Given the description of an element on the screen output the (x, y) to click on. 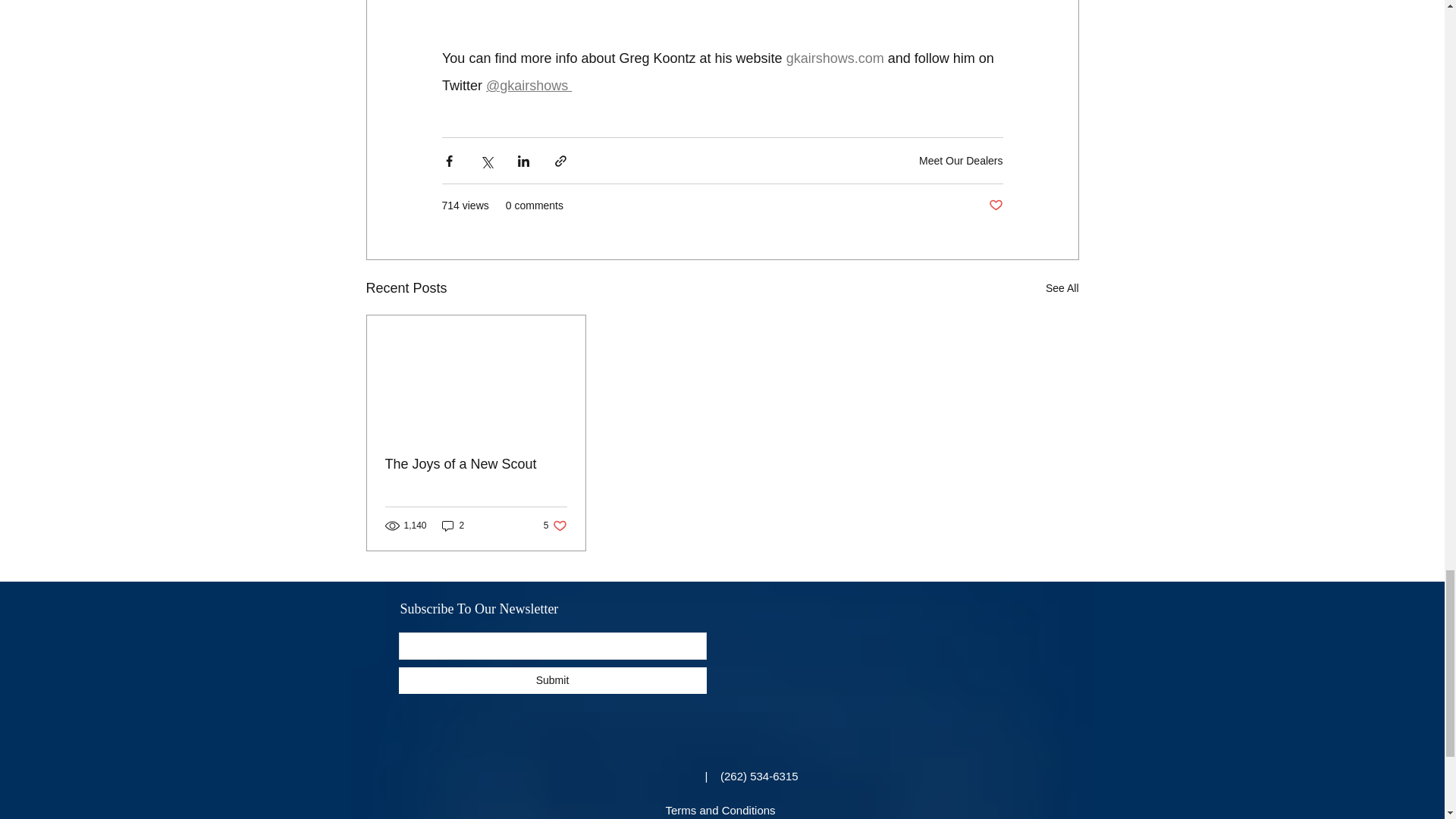
See All (1061, 288)
Meet Our Dealers (960, 160)
Post not marked as liked (995, 205)
gkairshows.com (834, 58)
